Given the description of an element on the screen output the (x, y) to click on. 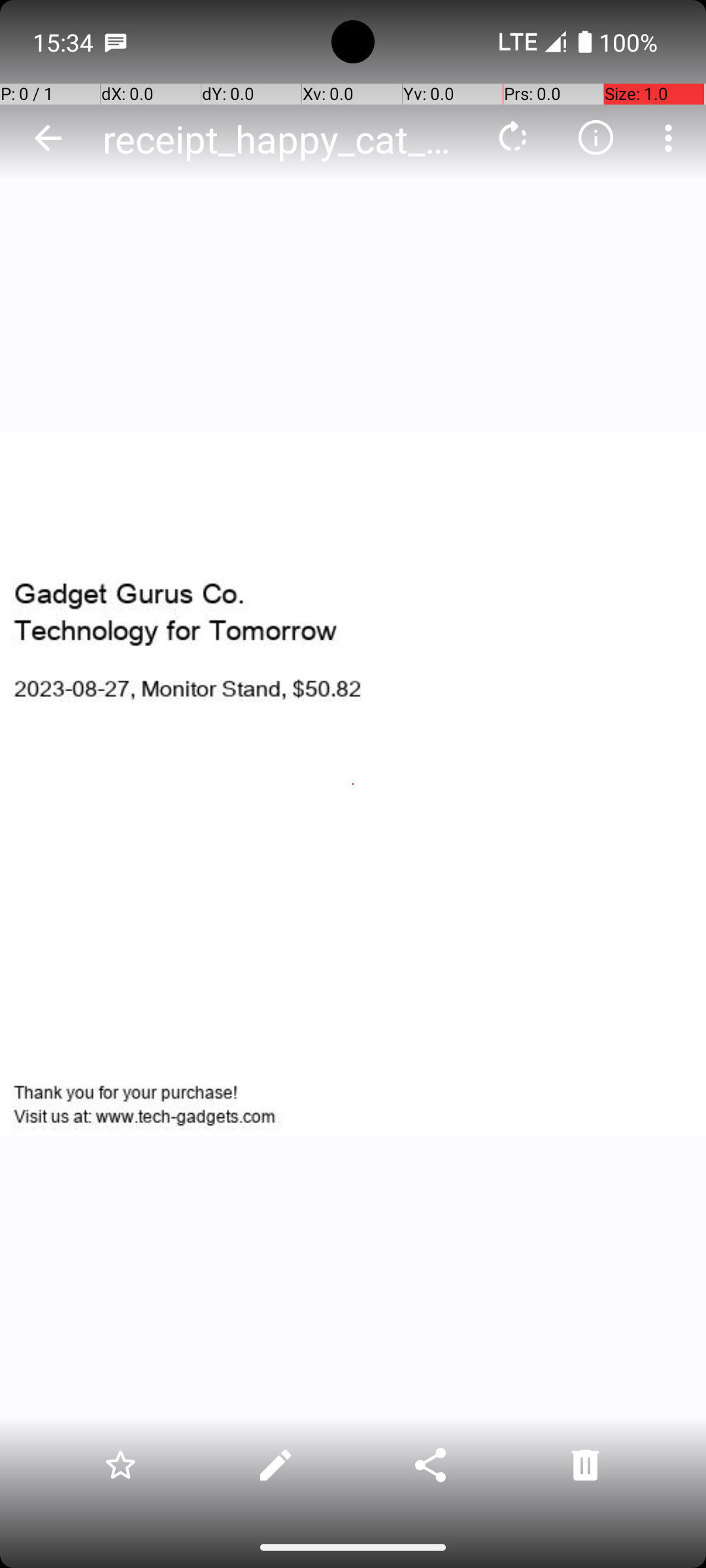
receipt_happy_cat_2023_03_20.jpg Element type: android.widget.TextView (283, 138)
Toggle favorite Element type: android.widget.ImageView (120, 1464)
